Given the description of an element on the screen output the (x, y) to click on. 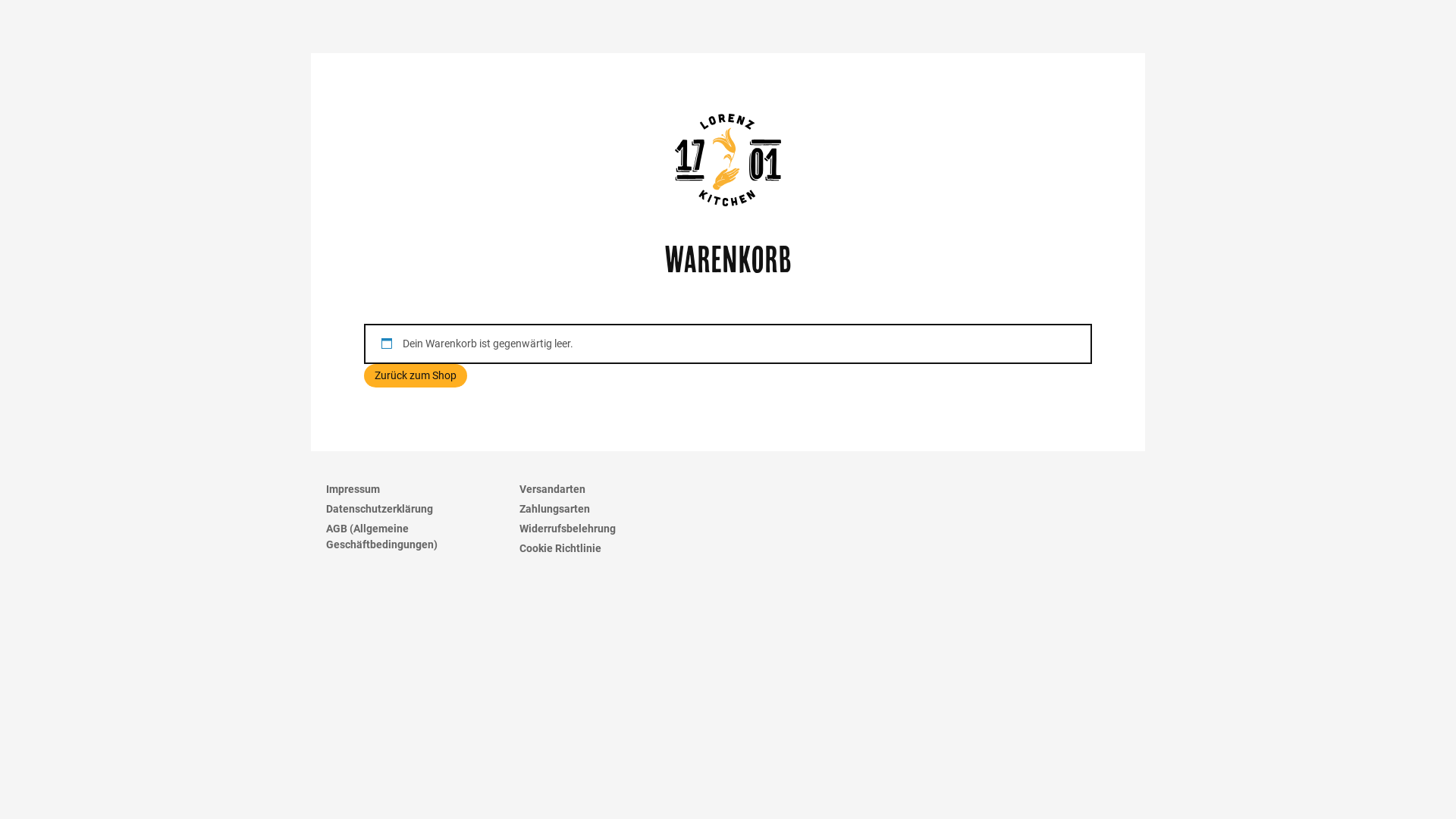
Impressum Element type: text (415, 489)
Zahlungsarten Element type: text (608, 509)
Versandarten Element type: text (608, 489)
Cookie Richtlinie Element type: text (608, 548)
Widerrufsbelehrung Element type: text (608, 528)
